Given the description of an element on the screen output the (x, y) to click on. 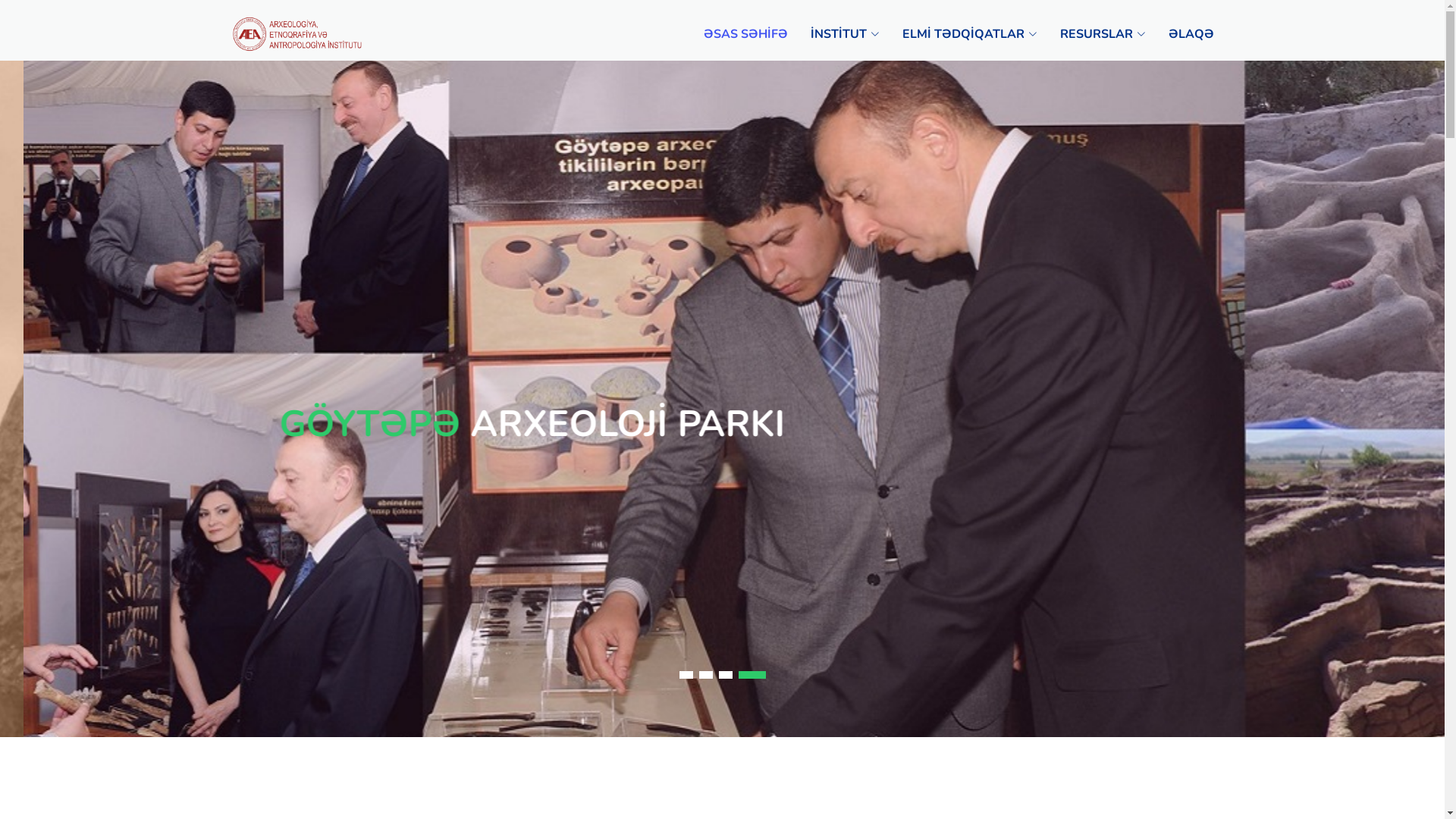
RESURSLAR Element type: text (1091, 33)
